Given the description of an element on the screen output the (x, y) to click on. 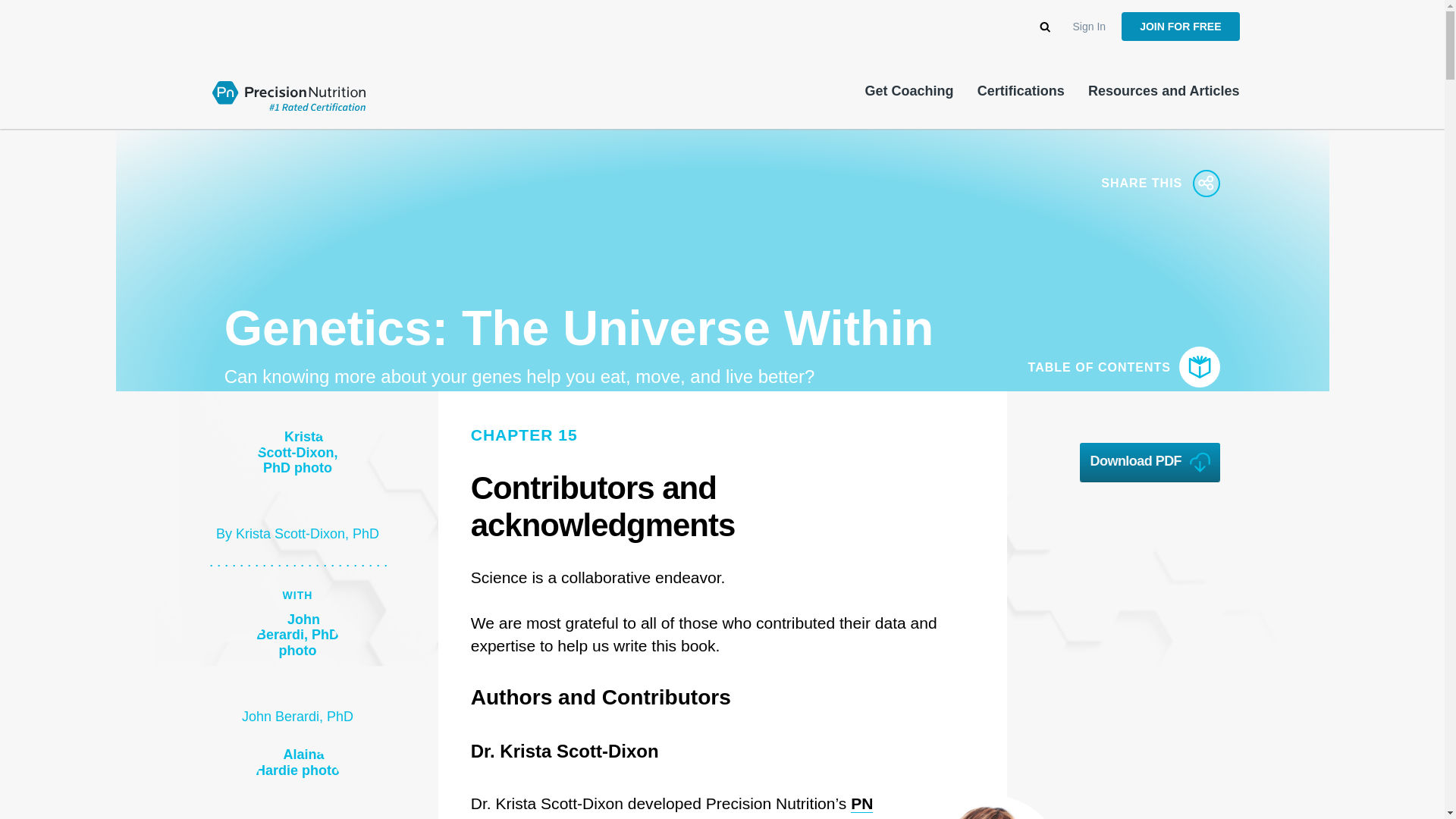
Get Coaching (908, 90)
JOIN FOR FREE (1180, 26)
Go to homepage (288, 94)
Certifications (1020, 90)
Sign In (1089, 26)
Resources and Articles (1163, 90)
